Given the description of an element on the screen output the (x, y) to click on. 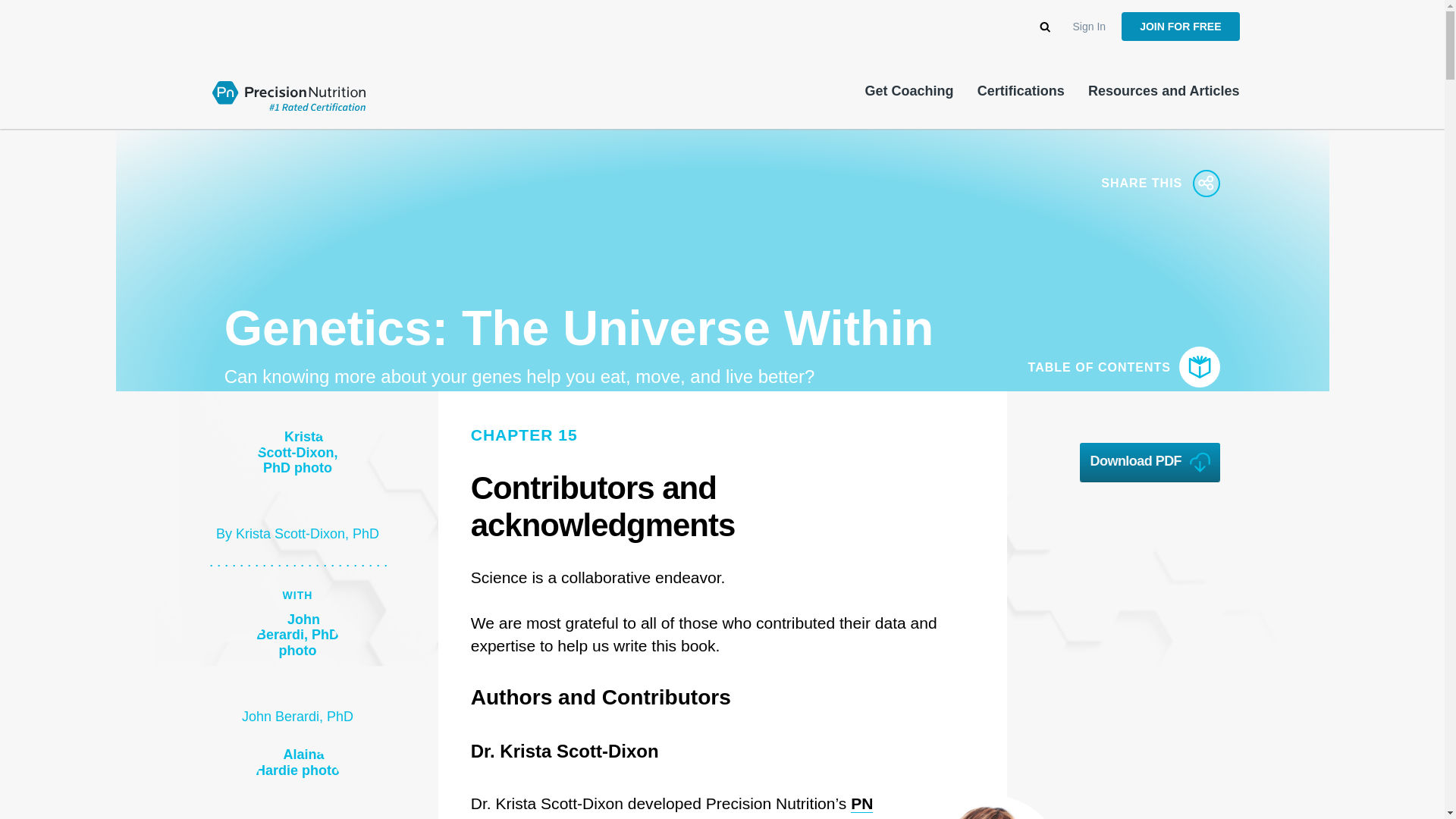
Get Coaching (908, 90)
JOIN FOR FREE (1180, 26)
Go to homepage (288, 94)
Certifications (1020, 90)
Sign In (1089, 26)
Resources and Articles (1163, 90)
